Given the description of an element on the screen output the (x, y) to click on. 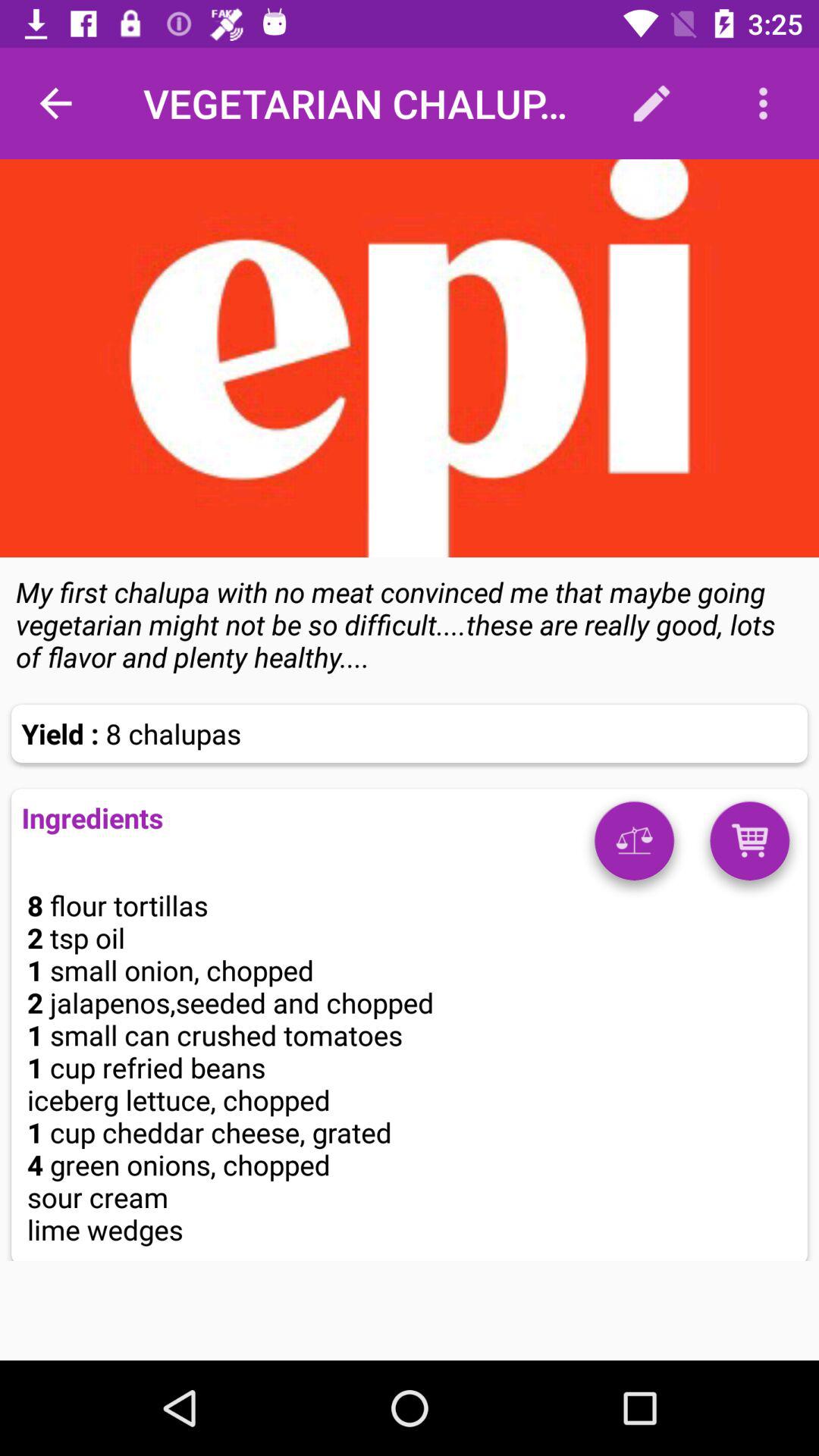
launch item at the top left corner (55, 103)
